Given the description of an element on the screen output the (x, y) to click on. 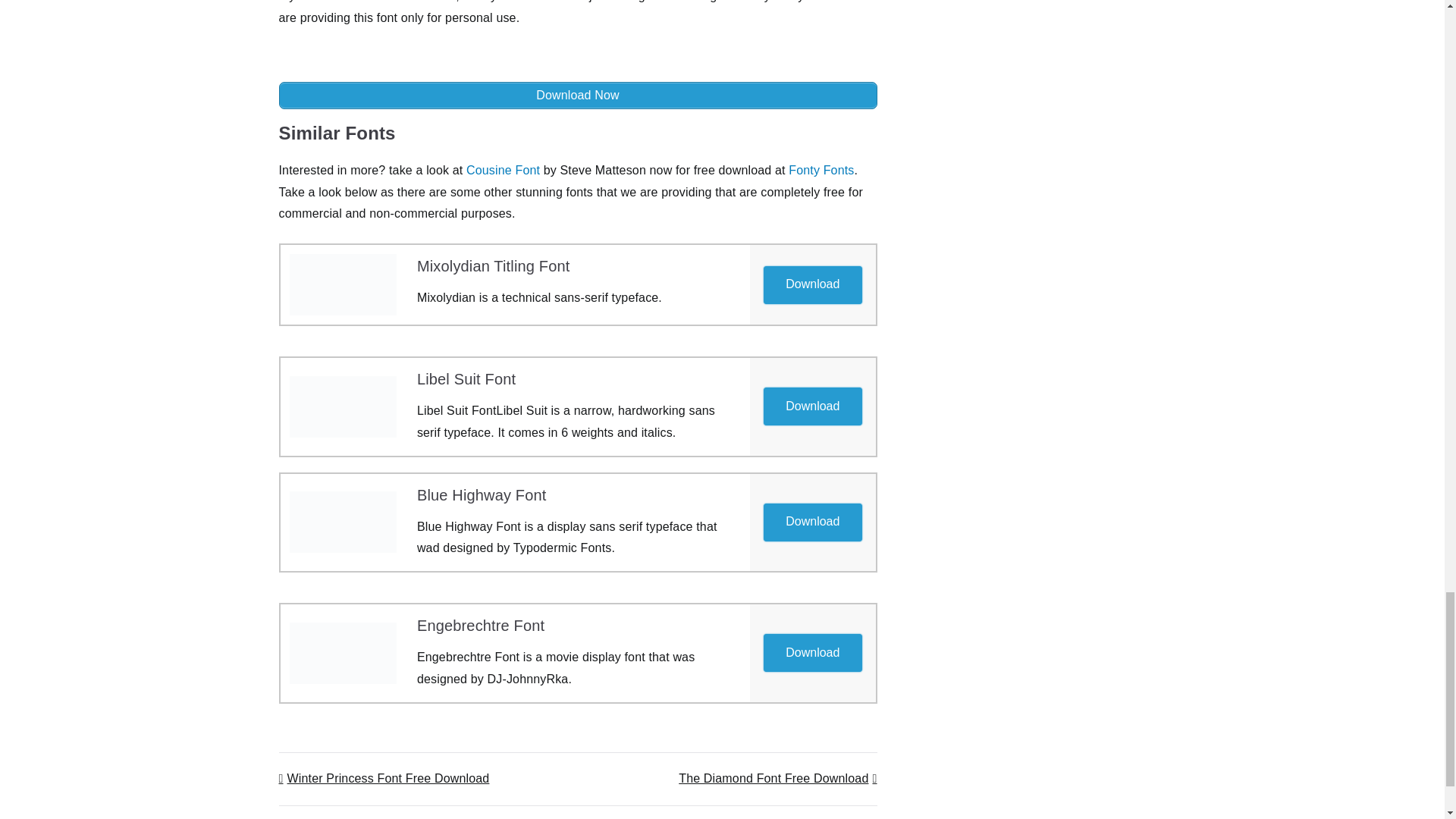
Download (811, 284)
Fonty Fonts (821, 169)
Download (811, 406)
Winter Princess Font Free Download (384, 778)
Download (811, 522)
Cousine Font (502, 169)
Download (813, 405)
Download Now (578, 94)
Download (811, 652)
Download (813, 521)
Download (813, 283)
Download (813, 652)
The Diamond Font Free Download (777, 778)
